Given the description of an element on the screen output the (x, y) to click on. 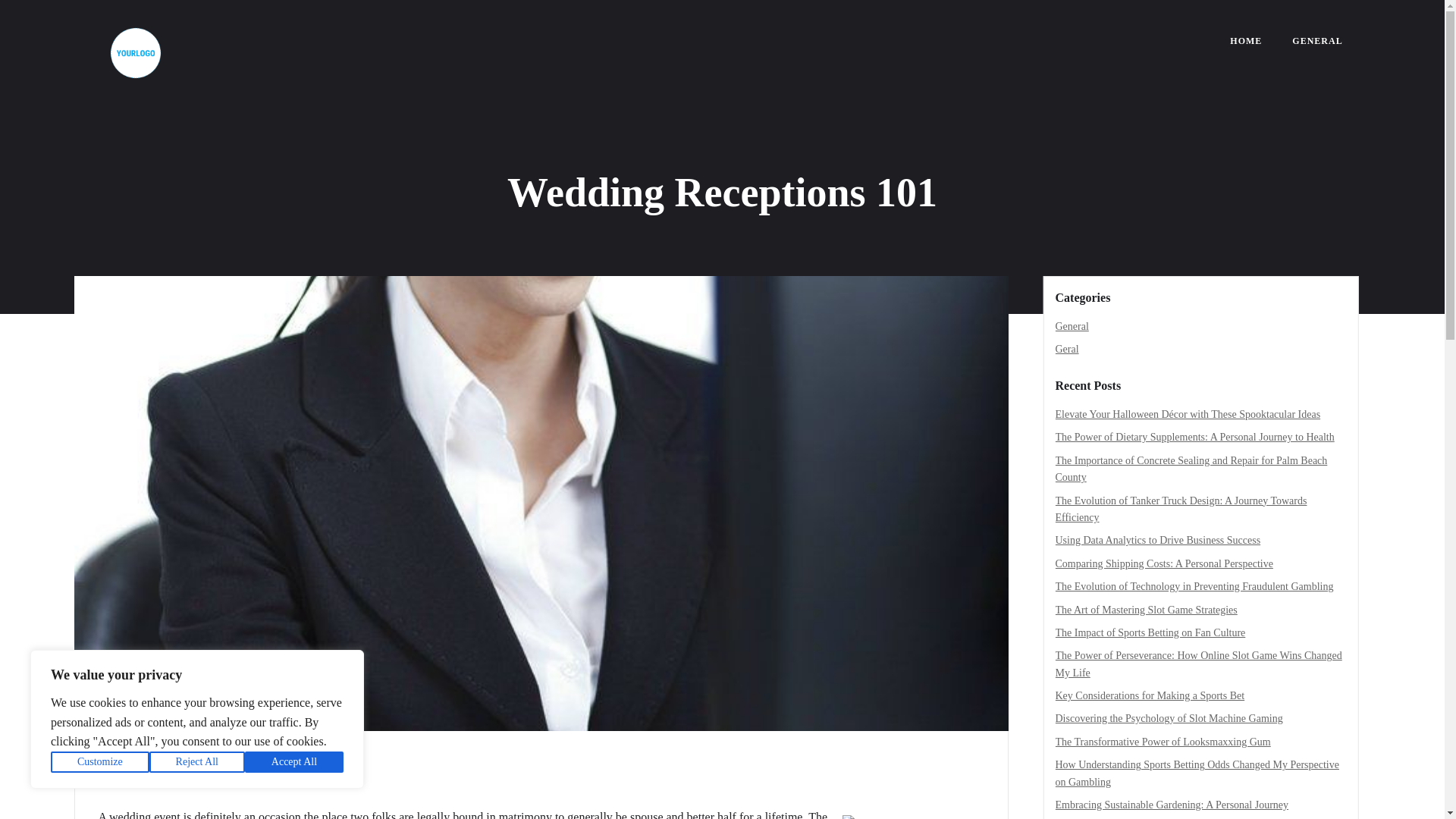
HOME (1246, 40)
Geral (1066, 348)
admin (119, 784)
Customize (99, 762)
Reject All (196, 762)
General (1072, 326)
Accept All (293, 762)
GENERAL (1317, 40)
General (138, 764)
